Given the description of an element on the screen output the (x, y) to click on. 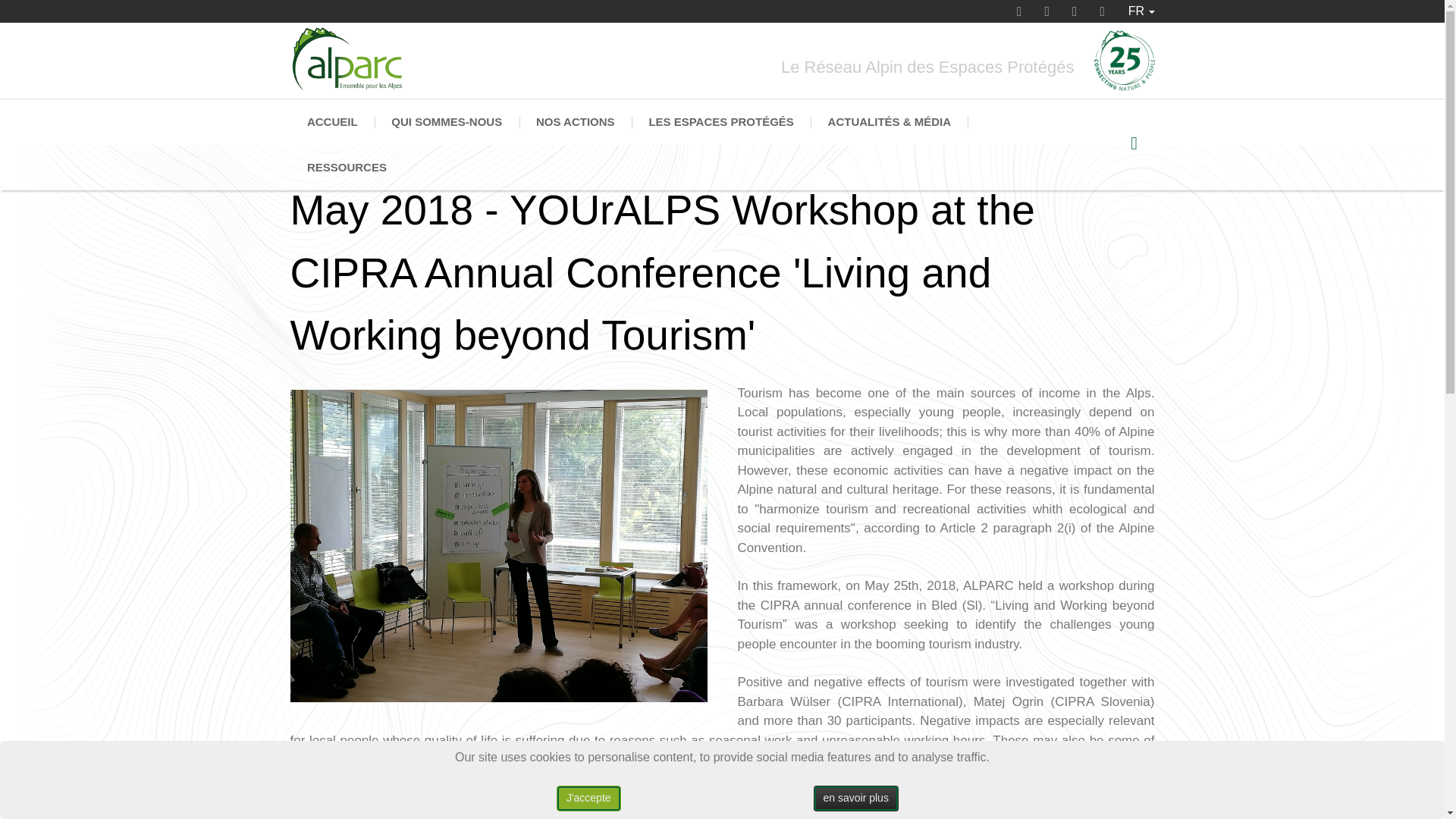
Youtube (1047, 22)
ACCUEIL (331, 121)
Calameo (1074, 22)
NOS ACTIONS (575, 121)
Facebook (1019, 22)
E-mail (1102, 22)
FR (1141, 10)
QUI SOMMES-NOUS (446, 121)
